Given the description of an element on the screen output the (x, y) to click on. 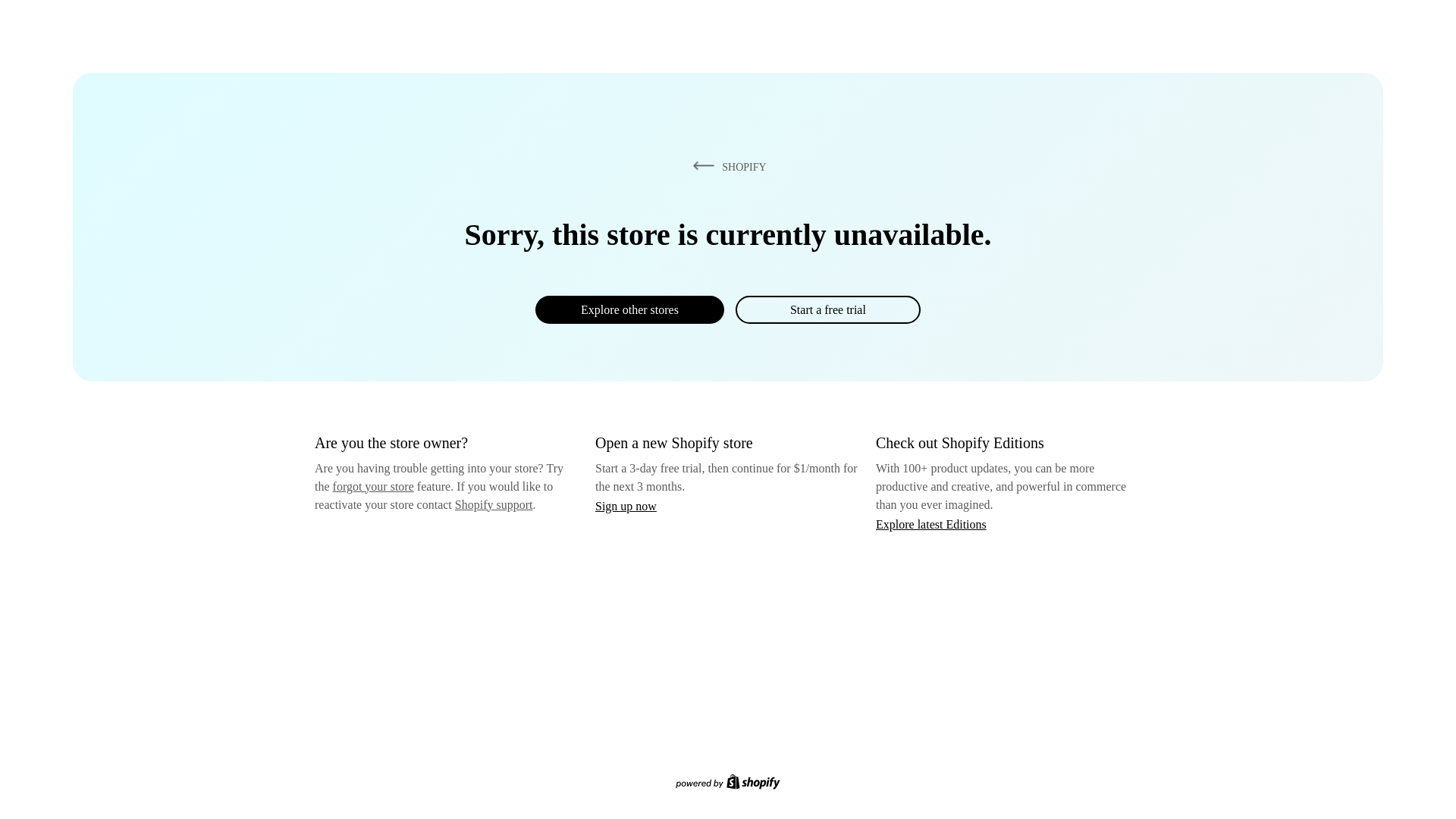
Start a free trial (827, 309)
Explore latest Editions (931, 523)
SHOPIFY (726, 166)
Shopify support (493, 504)
Explore other stores (629, 309)
forgot your store (373, 486)
Sign up now (625, 505)
